Given the description of an element on the screen output the (x, y) to click on. 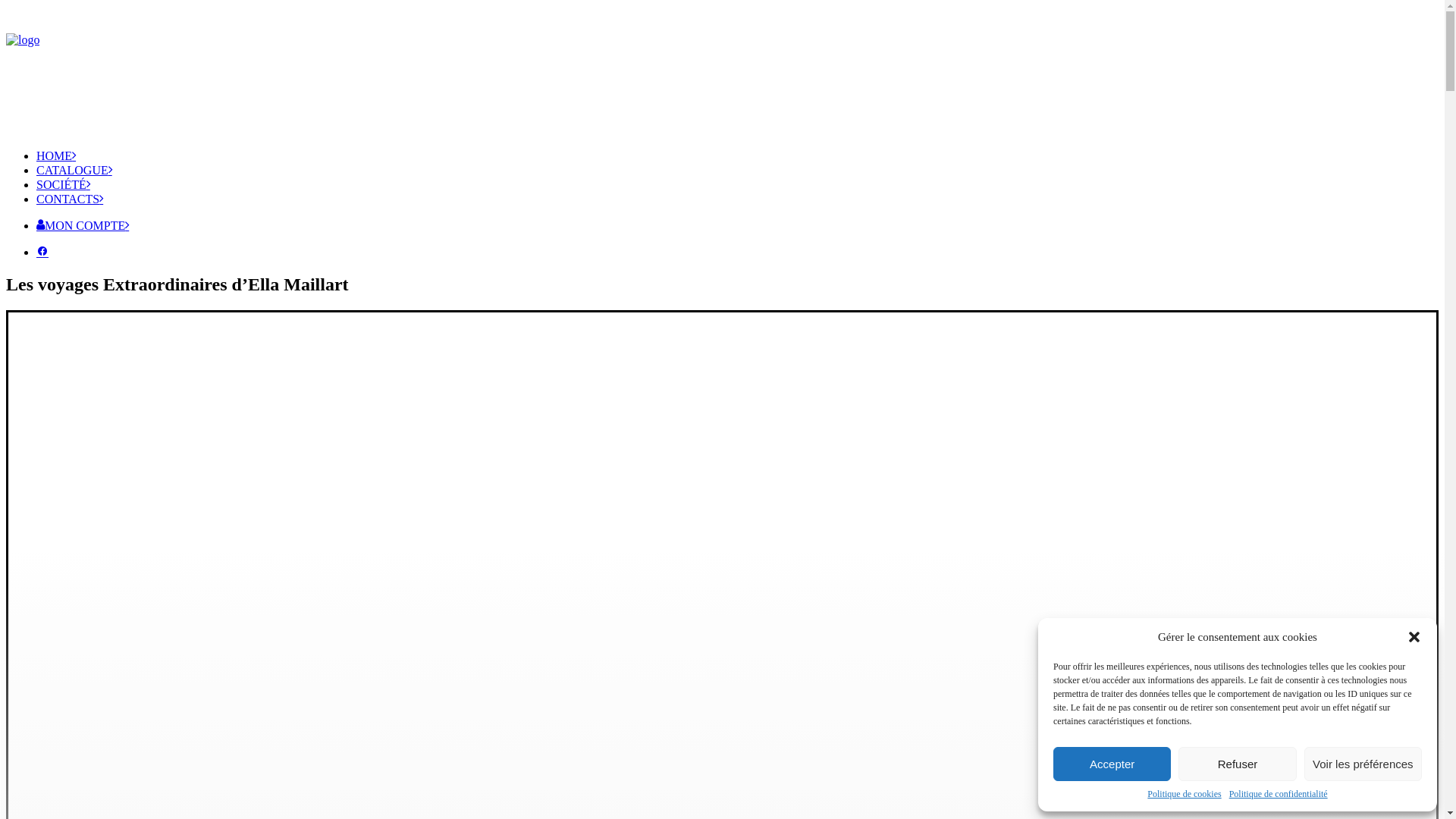
HOME Element type: text (55, 155)
Accepter Element type: text (1111, 763)
CATALOGUE Element type: text (74, 169)
Refuser Element type: text (1236, 763)
MON COMPTE Element type: text (82, 225)
CONTACTS Element type: text (69, 198)
Politique de cookies Element type: text (1183, 794)
